Given the description of an element on the screen output the (x, y) to click on. 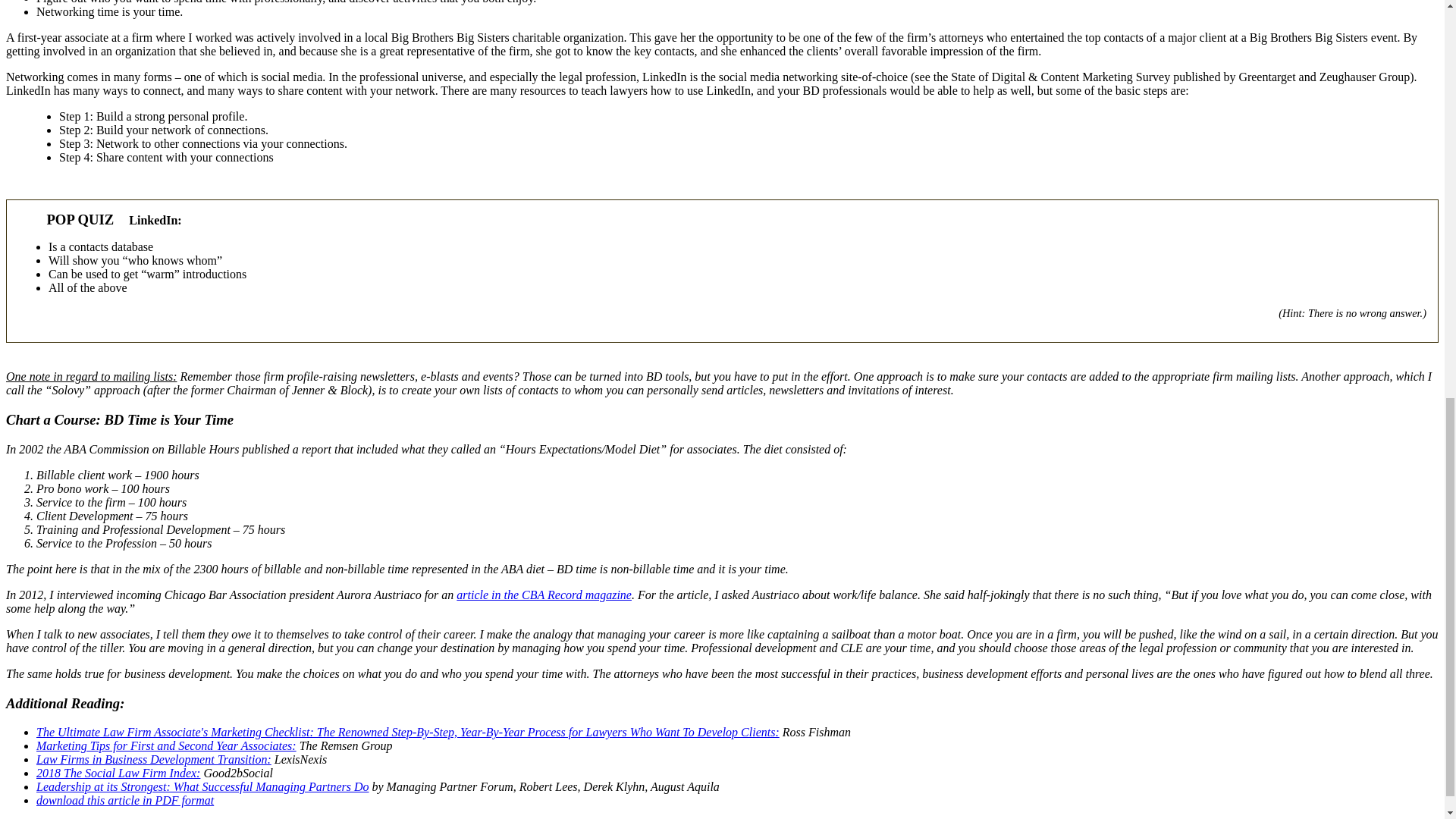
2018 The Social Law Firm Index: (118, 772)
Marketing Tips for First and Second Year Associates: (166, 745)
article in the CBA Record magazine (544, 594)
Law Firms in Business Development Transition: (153, 758)
download this article in PDF format (125, 799)
